Given the description of an element on the screen output the (x, y) to click on. 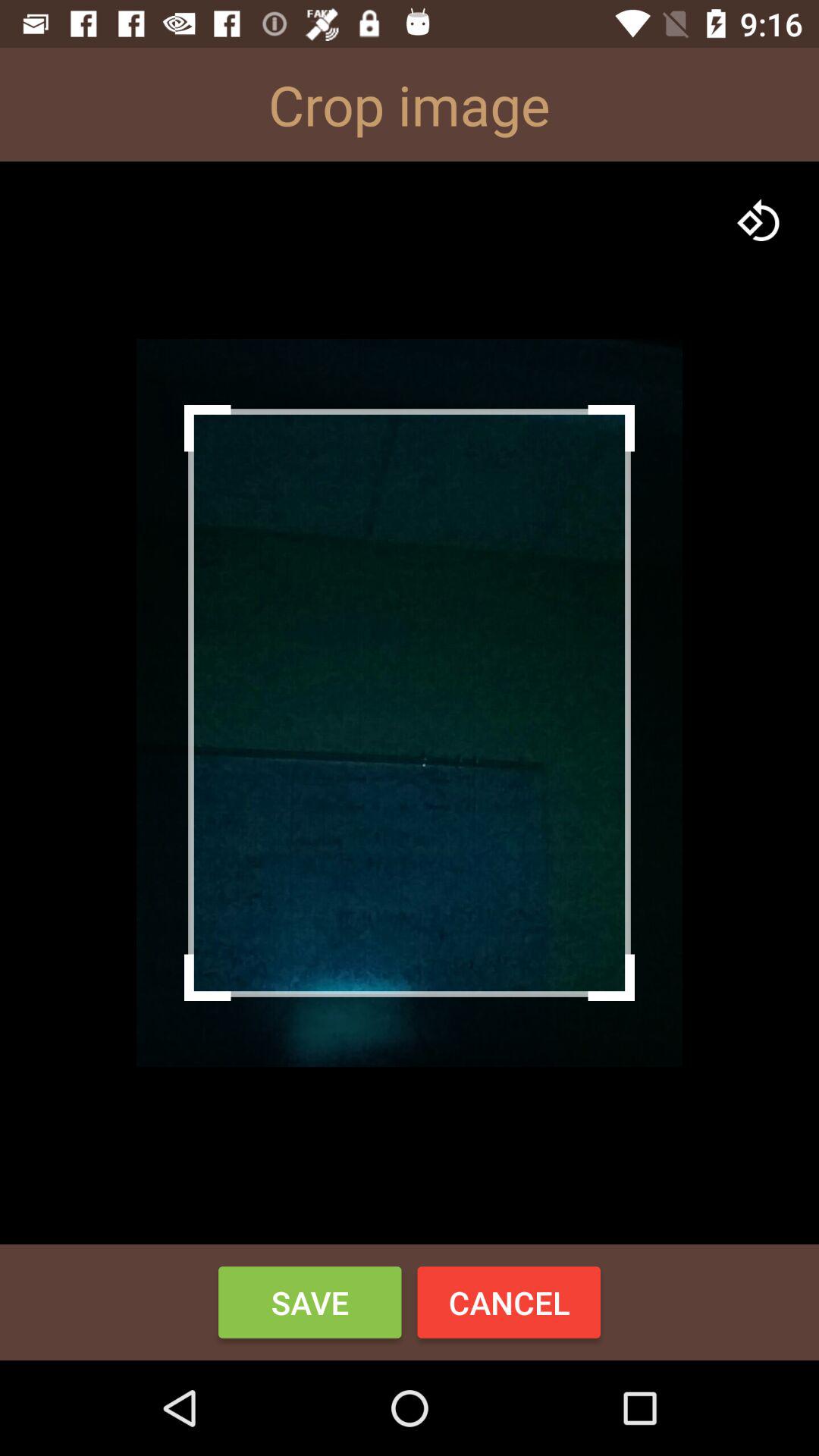
scroll to the save item (309, 1302)
